Given the description of an element on the screen output the (x, y) to click on. 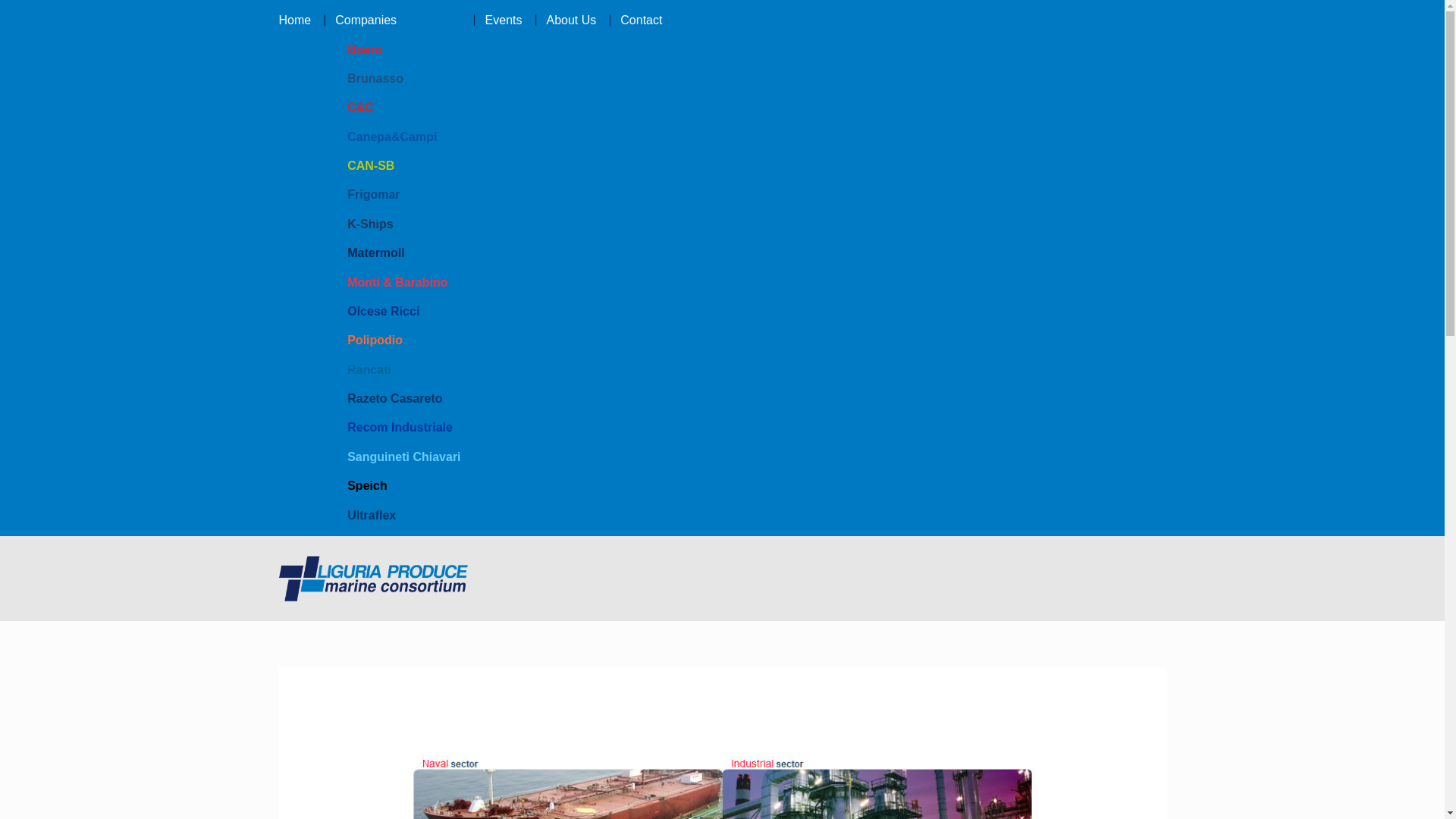
Home (301, 20)
Matermoll (402, 253)
Contact (641, 20)
Recom Industriale (402, 427)
About Us (571, 20)
Polipodio (402, 339)
Ultraflex (402, 514)
Frigomar (402, 194)
Sanguineti Chiavari (402, 457)
Razeto Casareto (402, 398)
Boero (402, 49)
Speich (402, 485)
K-Ships (402, 224)
Rancati (402, 369)
Brunasso (402, 78)
